Given the description of an element on the screen output the (x, y) to click on. 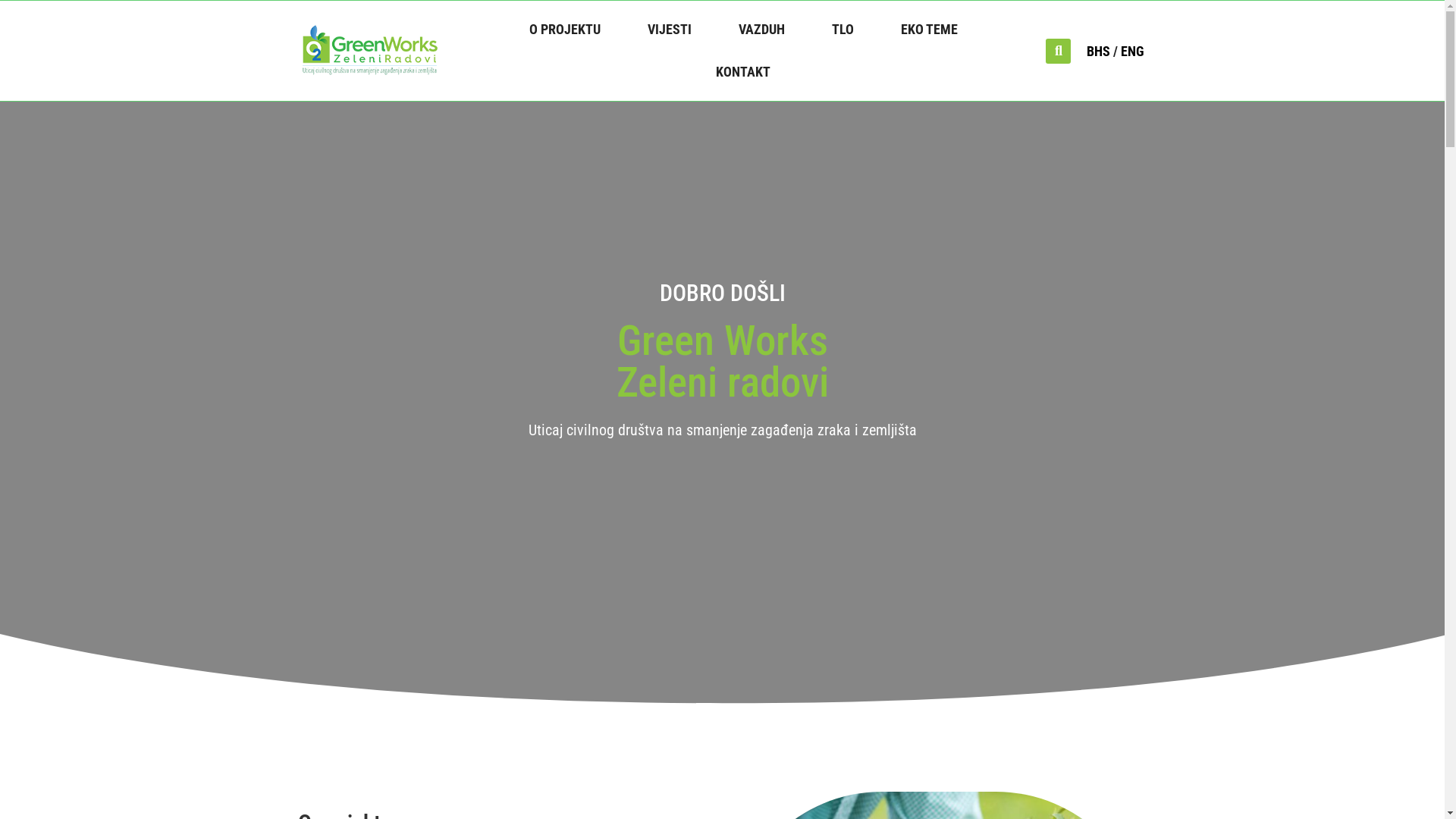
ENG Element type: text (1132, 51)
VAZDUH Element type: text (761, 29)
KONTAKT Element type: text (742, 71)
EKO TEME Element type: text (929, 29)
VIJESTI Element type: text (669, 29)
BHS Element type: text (1098, 51)
O PROJEKTU Element type: text (564, 29)
TLO Element type: text (842, 29)
